Given the description of an element on the screen output the (x, y) to click on. 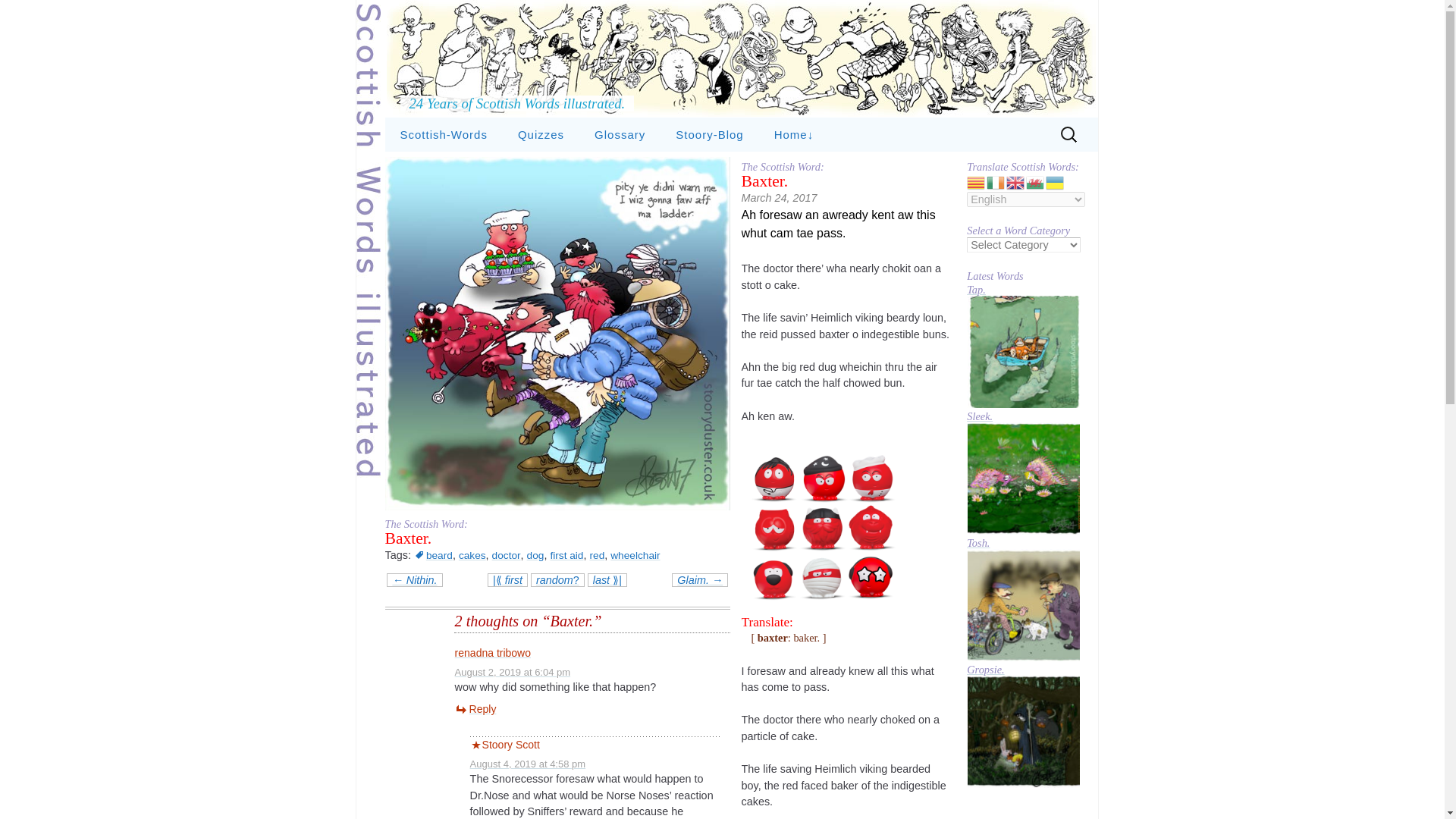
August 2, 2019 at 6:04 pm (512, 672)
Quizzes (540, 134)
Glossary (620, 134)
Permanent Link to Sleek. (1023, 477)
Irish (996, 182)
Scottish-Words (443, 134)
Permanent Link to Tap. (1023, 289)
Scottish Words Illustrated (741, 58)
Permanent Link to Tap. (1023, 350)
